Given the description of an element on the screen output the (x, y) to click on. 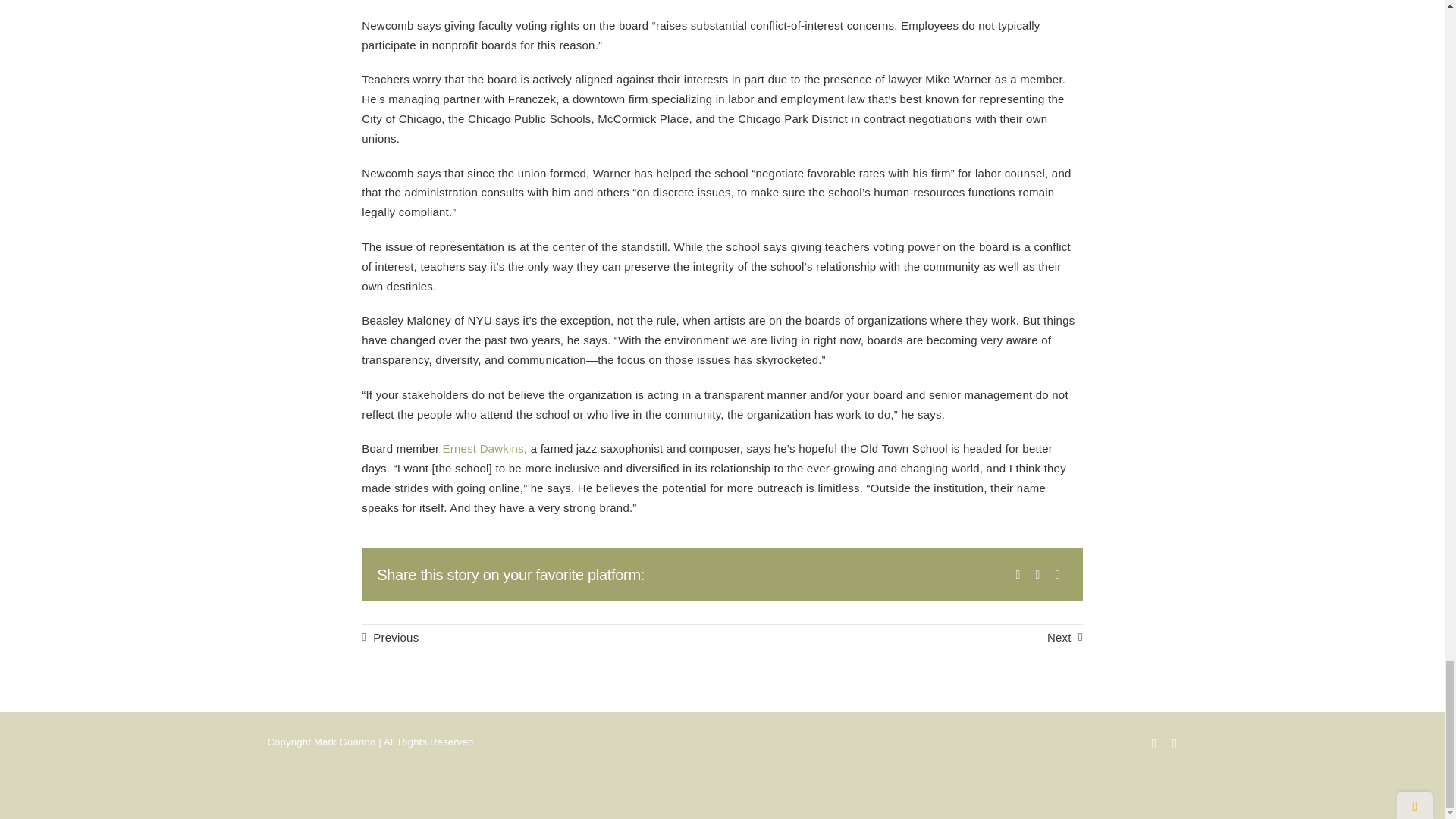
Ernest Dawkins (483, 448)
Previous (390, 636)
Next (1064, 636)
